Given the description of an element on the screen output the (x, y) to click on. 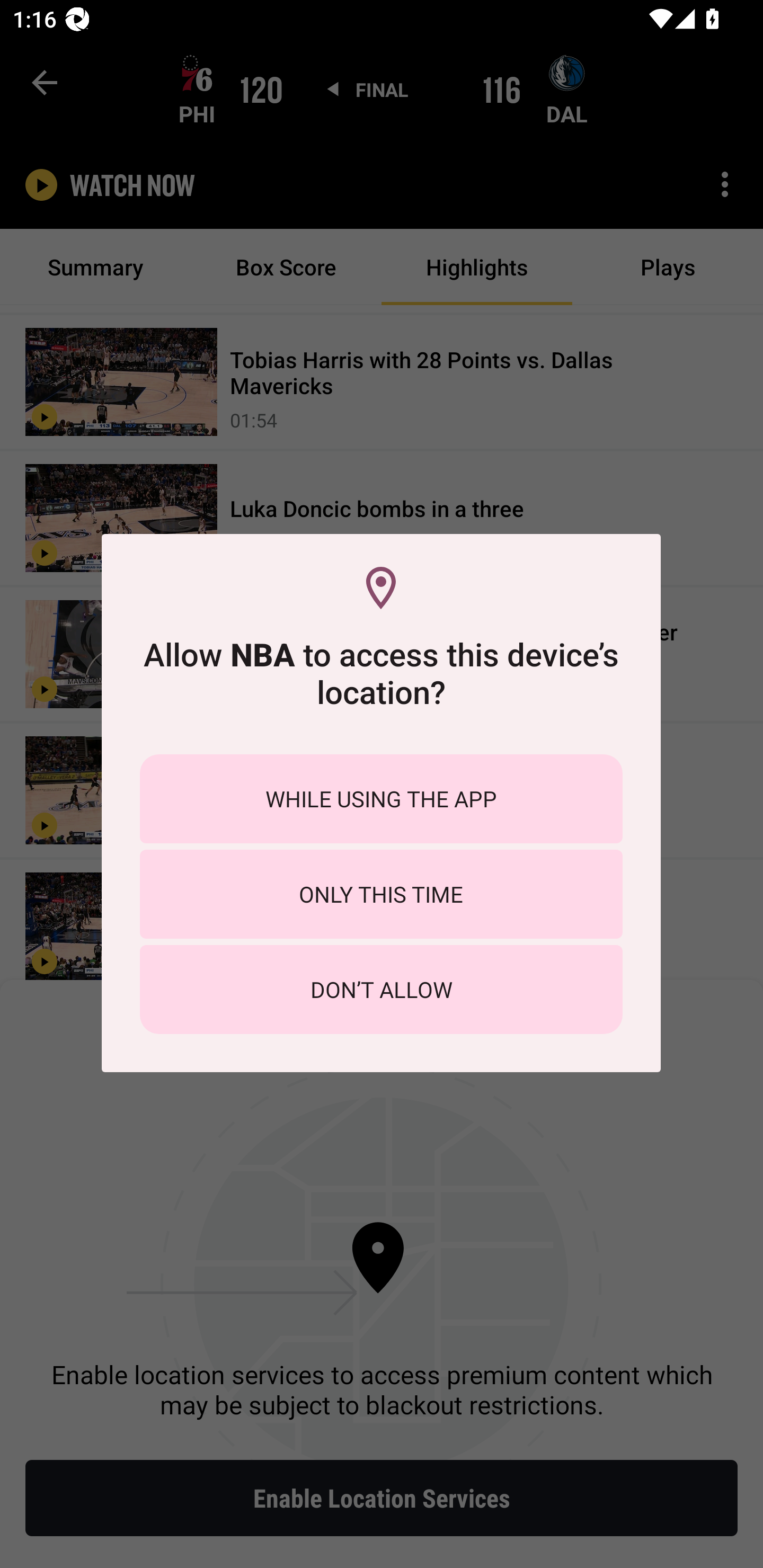
WHILE USING THE APP (380, 798)
ONLY THIS TIME (380, 894)
DON’T ALLOW (380, 989)
